Given the description of an element on the screen output the (x, y) to click on. 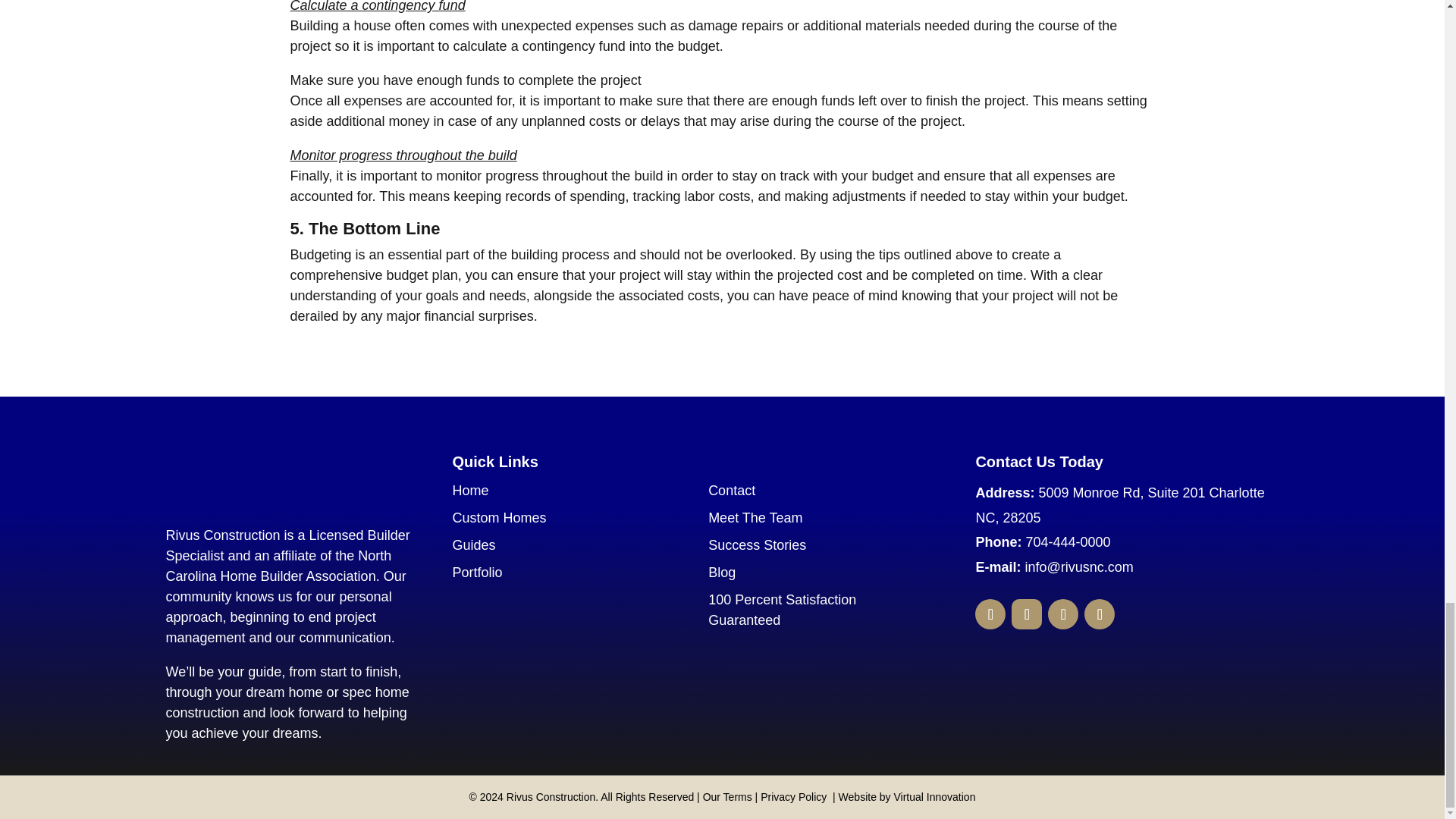
Rivus-logowhite-thumb (260, 478)
Follow on Youtube (1099, 613)
Guides (473, 544)
Follow on X (1063, 613)
Contact (731, 490)
Blog (721, 572)
Meet The Team (754, 517)
Privacy Policy (793, 797)
Home (469, 490)
Our Terms (727, 797)
Custom Homes (498, 517)
Virtual Innovation (934, 797)
Follow on Instagram (1026, 613)
Success Stories (756, 544)
704-444-0000 (1067, 541)
